Given the description of an element on the screen output the (x, y) to click on. 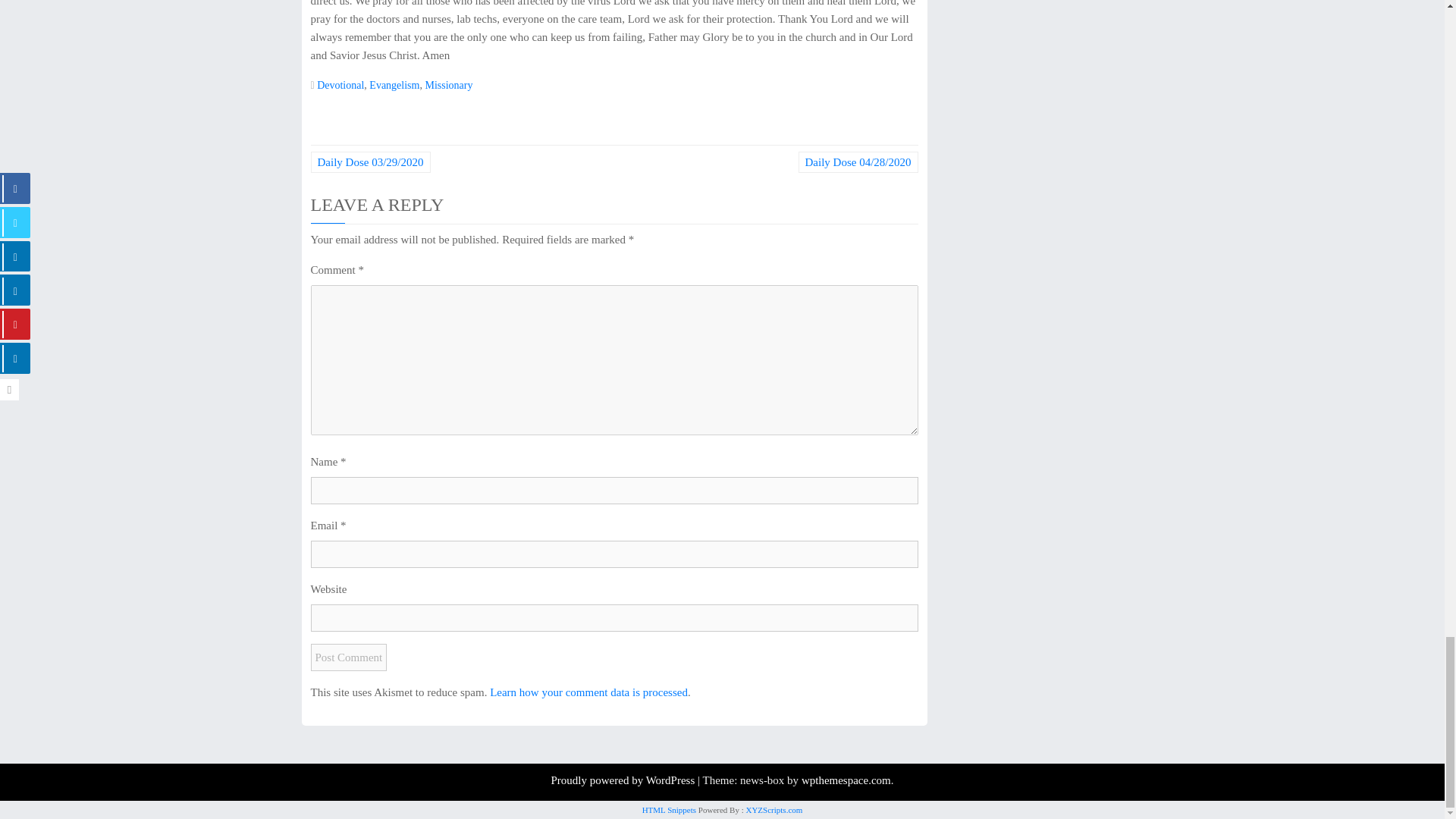
Proudly powered by WordPress (623, 779)
Insert HTML Snippet Wordpress Plugin (668, 809)
Post Comment (349, 656)
Evangelism (394, 84)
Learn how your comment data is processed (588, 692)
wpthemespace.com (846, 779)
Devotional (340, 84)
Post Comment (349, 656)
Missionary (448, 84)
